Given the description of an element on the screen output the (x, y) to click on. 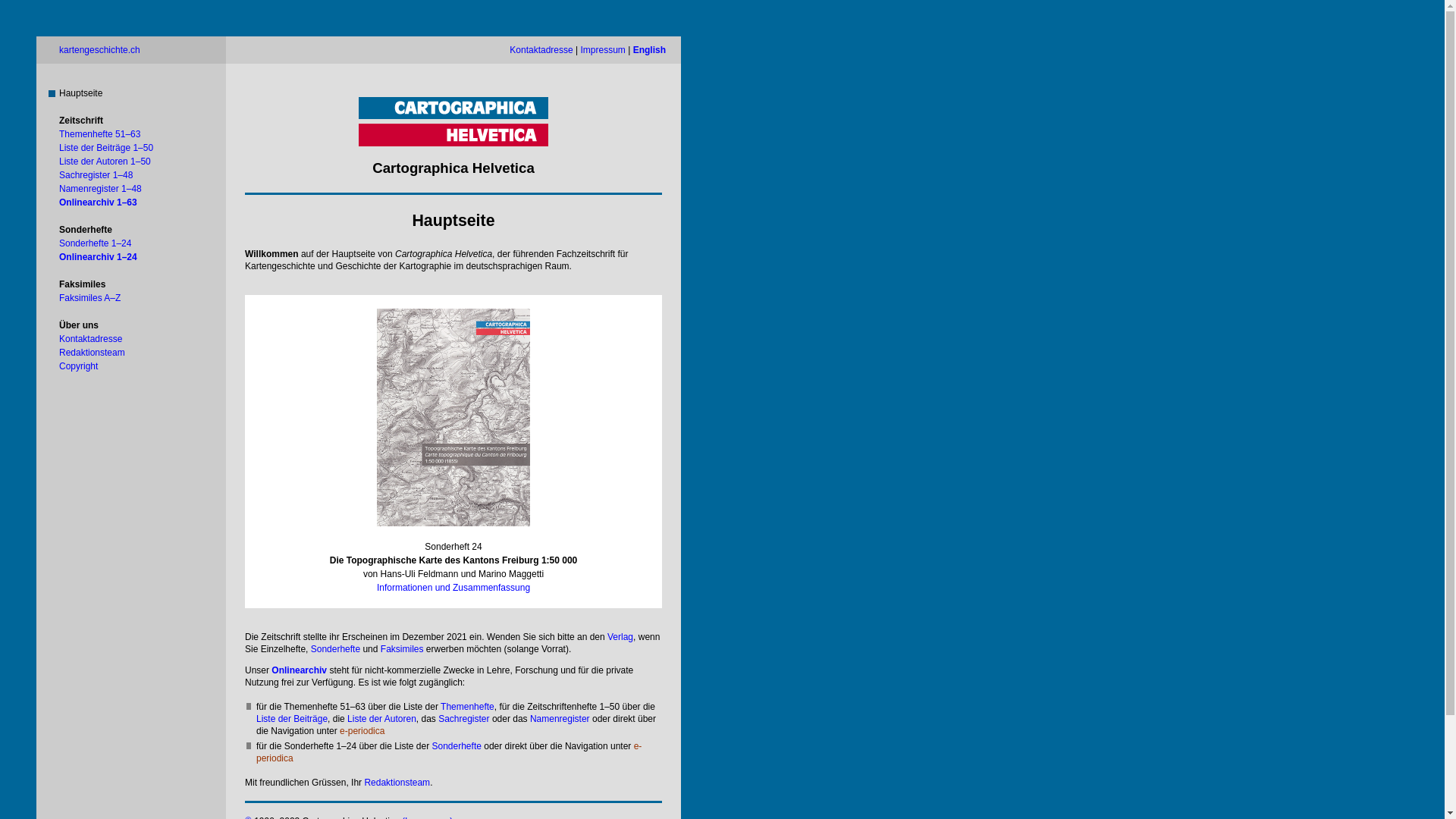
English Element type: text (649, 49)
Sachregister Element type: text (463, 718)
Faksimiles Element type: text (401, 648)
Sonderhefte Element type: text (335, 648)
Liste der Autoren Element type: text (381, 718)
kartengeschichte.ch Element type: text (99, 49)
e-periodica Element type: text (448, 751)
Kontaktadresse Element type: text (540, 49)
Kontaktadresse Element type: text (90, 338)
Redaktionsteam Element type: text (92, 352)
e-periodica Element type: text (361, 730)
Informationen und Zusammenfassung Element type: text (453, 587)
Namenregister Element type: text (559, 718)
Sonderhefte Element type: text (456, 745)
Redaktionsteam Element type: text (396, 782)
Copyright Element type: text (78, 365)
Verlag Element type: text (620, 636)
Onlinearchiv Element type: text (298, 670)
Themenhefte Element type: text (467, 706)
Impressum Element type: text (602, 49)
